Given the description of an element on the screen output the (x, y) to click on. 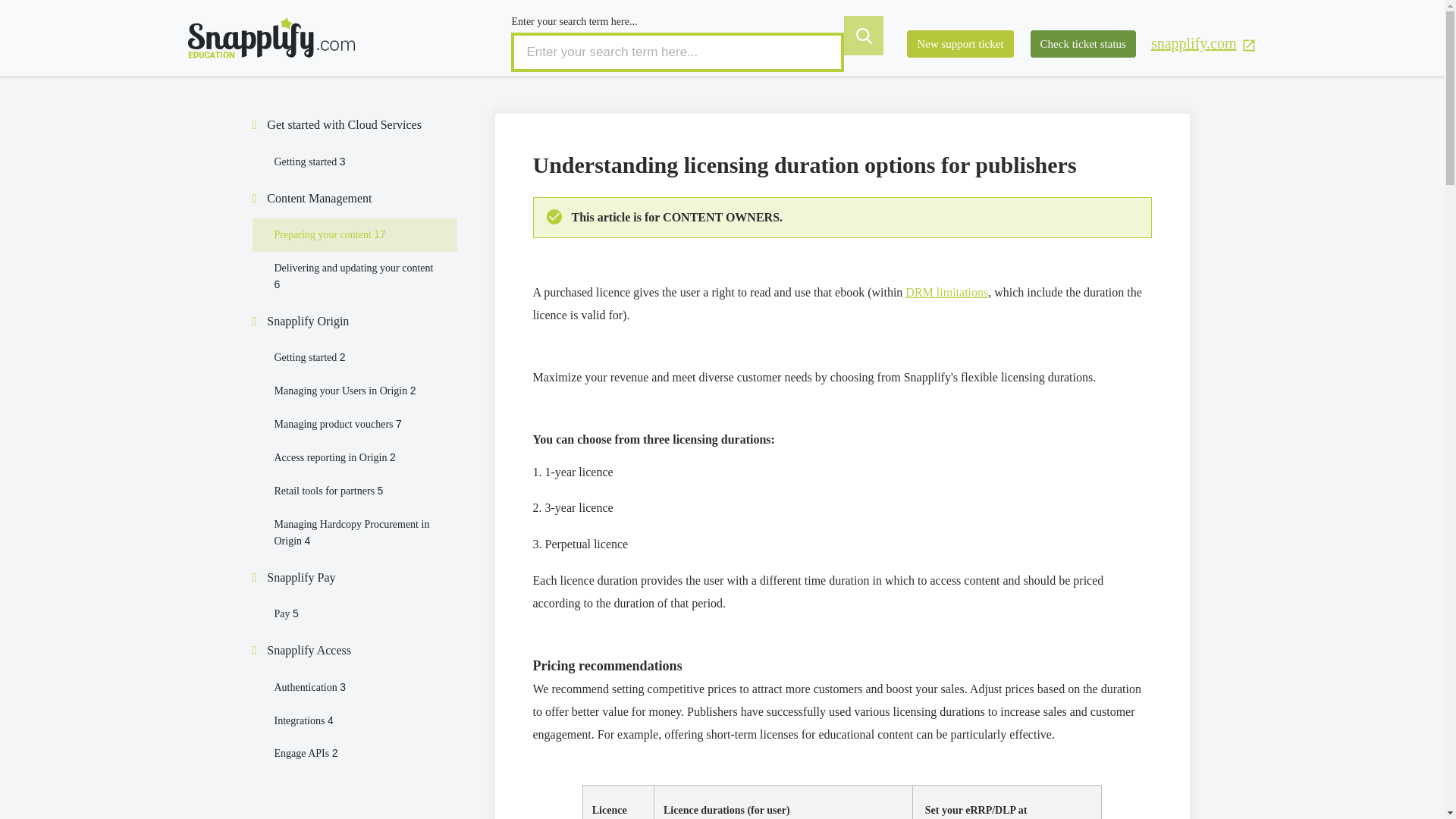
Check ticket status (1082, 44)
Getting started 2 (310, 357)
Managing your Users in Origin 2 (345, 390)
Managing product vouchers 7 (338, 423)
Access reporting in Origin (335, 457)
New support ticket (960, 44)
Delivering and updating your content 6 (354, 276)
Retail tools for partners 5 (329, 490)
snapplify.com (1204, 43)
Check ticket status (1082, 44)
Getting started 3 (310, 161)
Getting started (310, 161)
Authentication (310, 686)
Content Management (318, 196)
Managing product vouchers (338, 423)
